Given the description of an element on the screen output the (x, y) to click on. 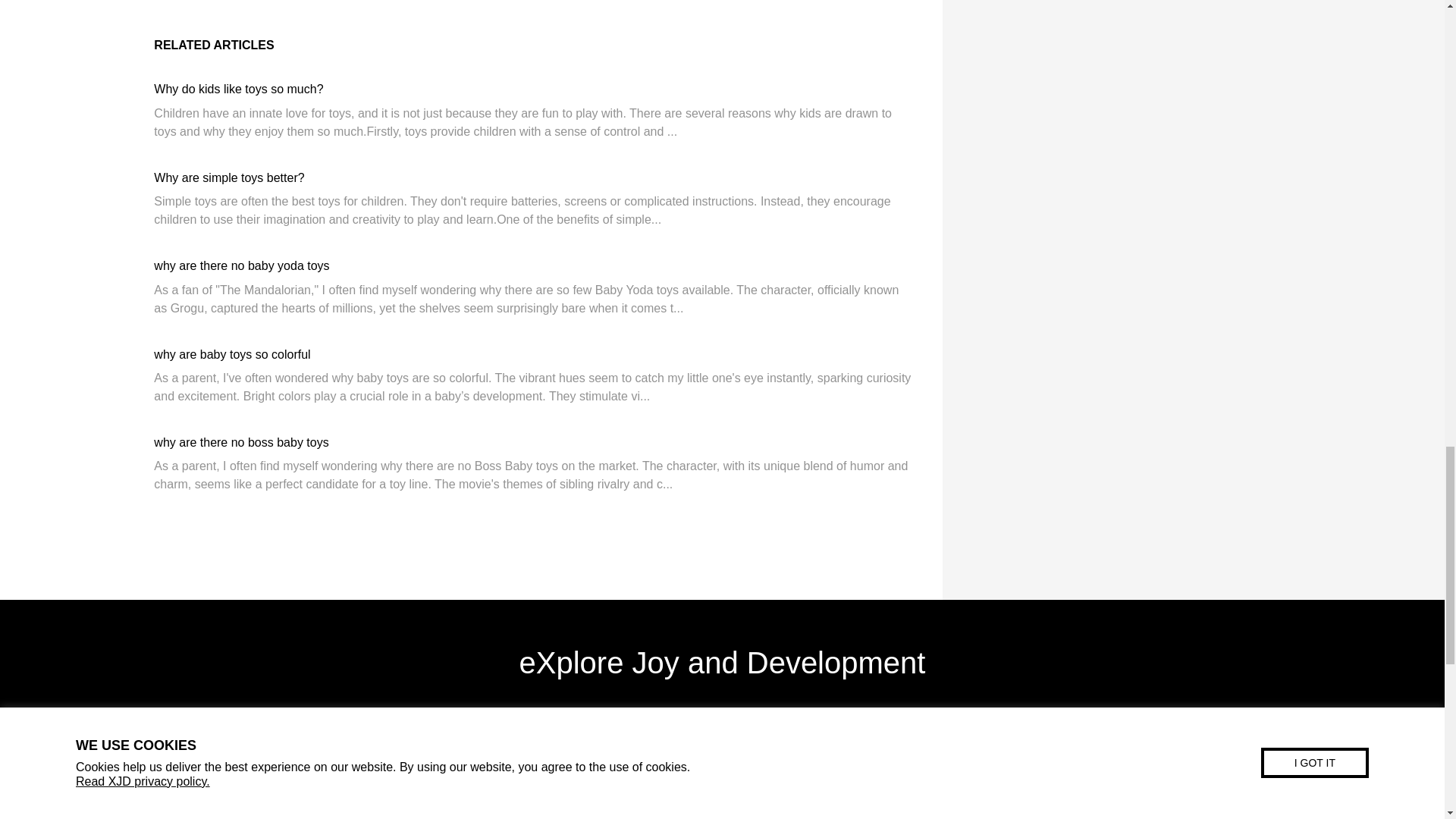
why are there no boss baby toys (241, 441)
why are there no baby yoda toys (241, 265)
why are baby toys so colorful (232, 354)
Why are simple toys better? (229, 177)
Why do kids like toys so much? (238, 88)
